Given the description of an element on the screen output the (x, y) to click on. 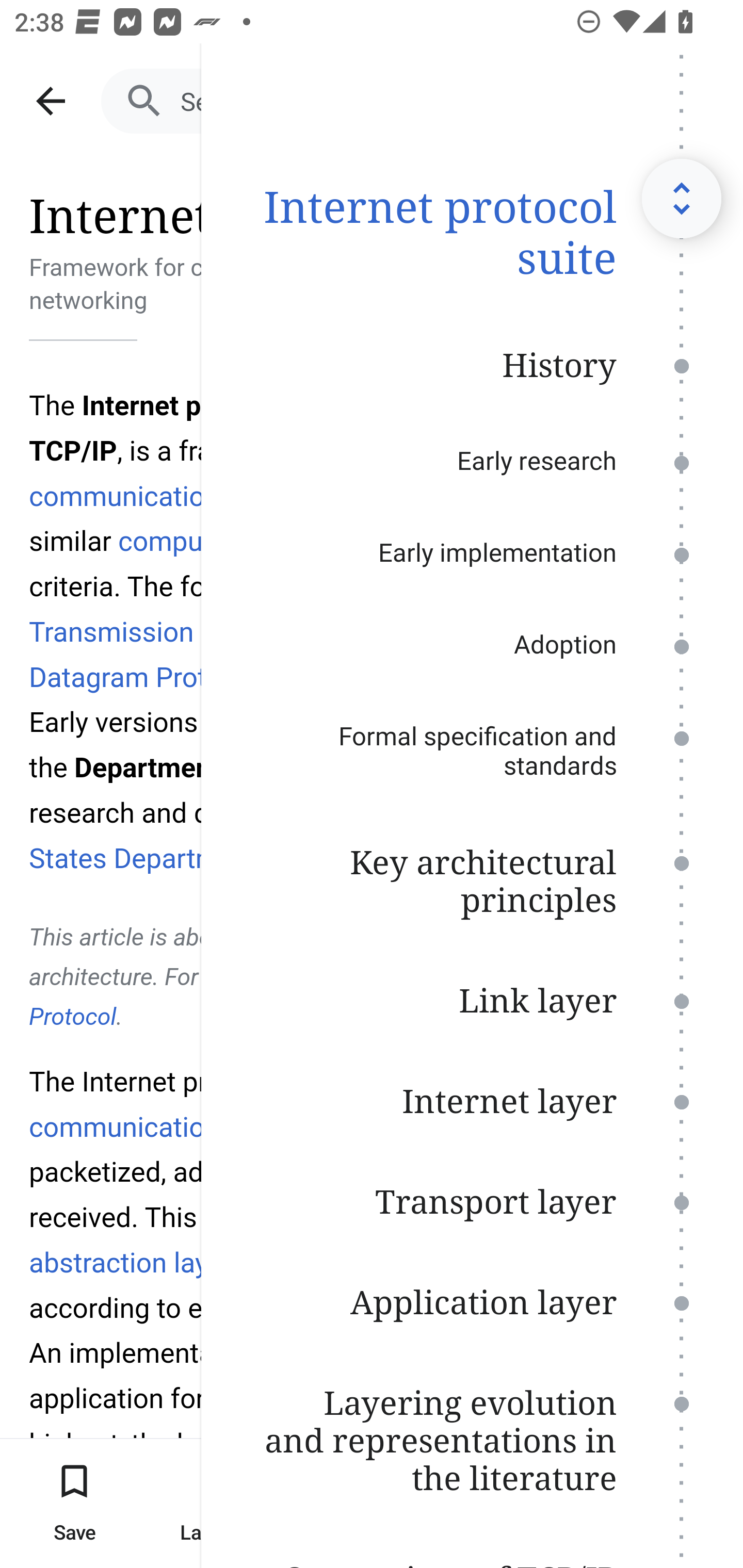
Internet protocol suite (472, 230)
History (472, 363)
Early research (472, 459)
Early implementation (472, 551)
Adoption (472, 643)
Formal specification and standards (472, 749)
Key architectural principles (472, 879)
Link layer (472, 998)
Internet layer (472, 1099)
Transport layer (472, 1200)
Application layer (472, 1301)
